Given the description of an element on the screen output the (x, y) to click on. 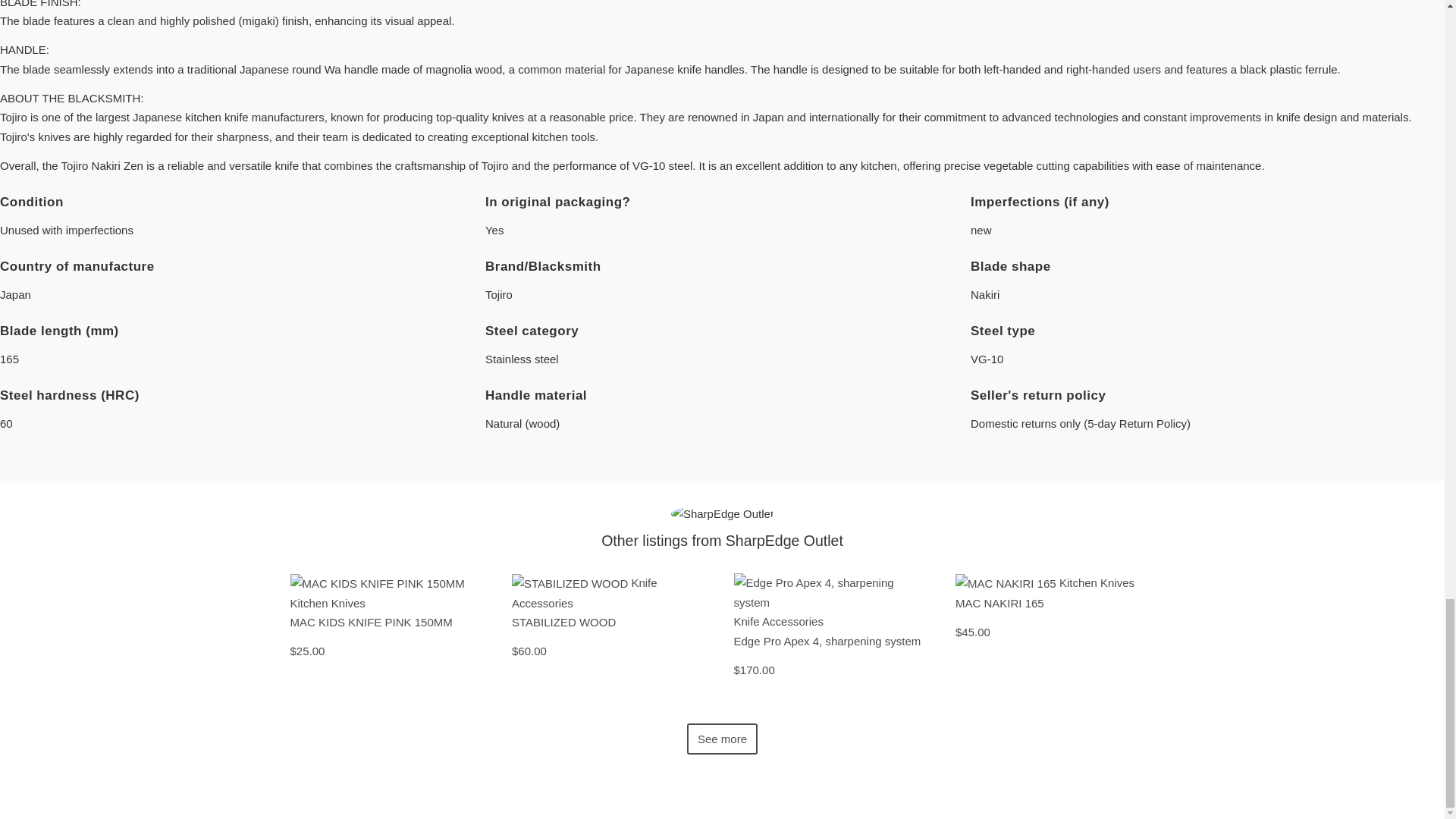
Knife Accessories (585, 592)
STABILIZED WOOD (611, 636)
Kitchen Knives (1096, 582)
See more (722, 739)
STABILIZED WOOD (571, 582)
Edge Pro Apex 4, sharpening system (833, 655)
MAC KIDS KNIFE PINK 150MM (376, 582)
MAC NAKIRI 165 (1007, 582)
Kitchen Knives (327, 603)
Knife Accessories (778, 621)
